Given the description of an element on the screen output the (x, y) to click on. 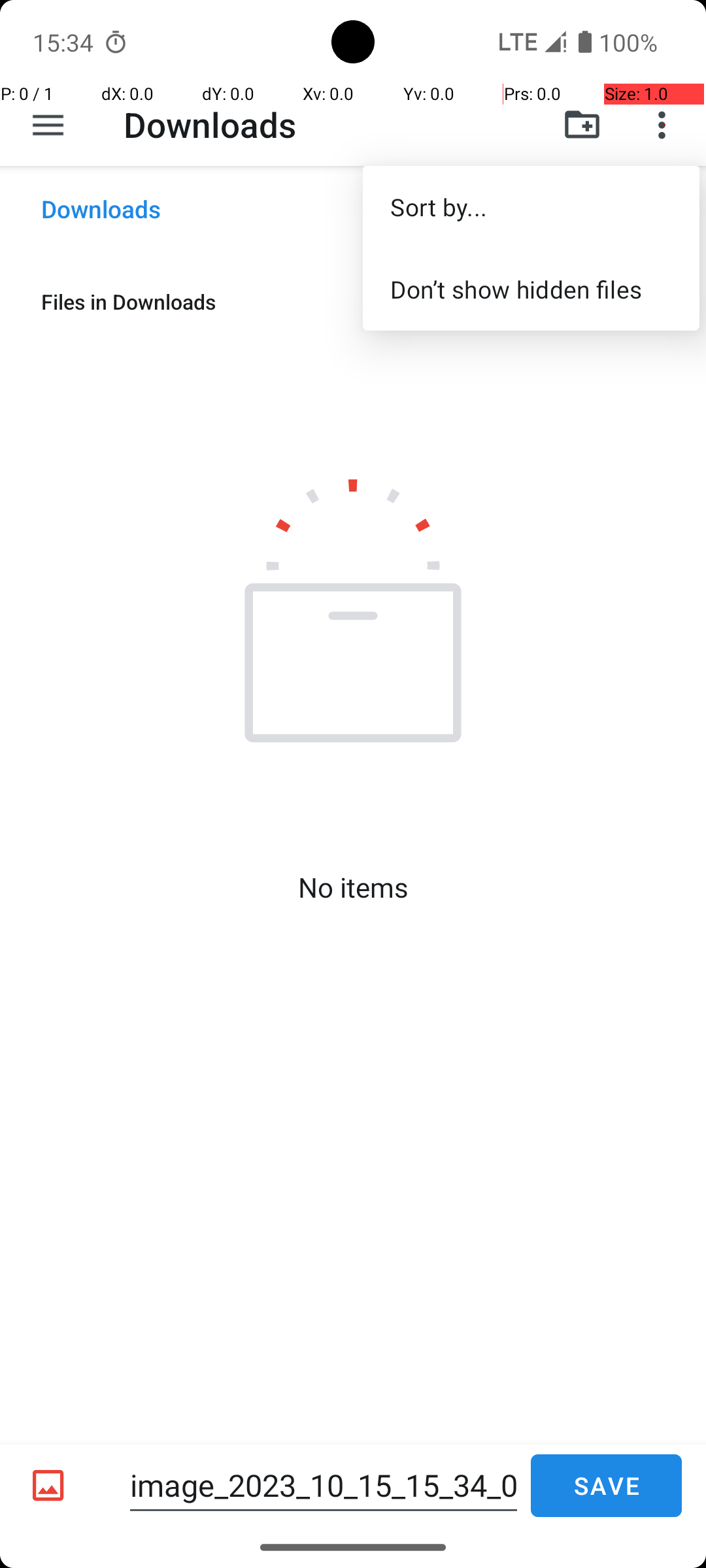
Don’t show hidden files Element type: android.widget.TextView (531, 288)
